Given the description of an element on the screen output the (x, y) to click on. 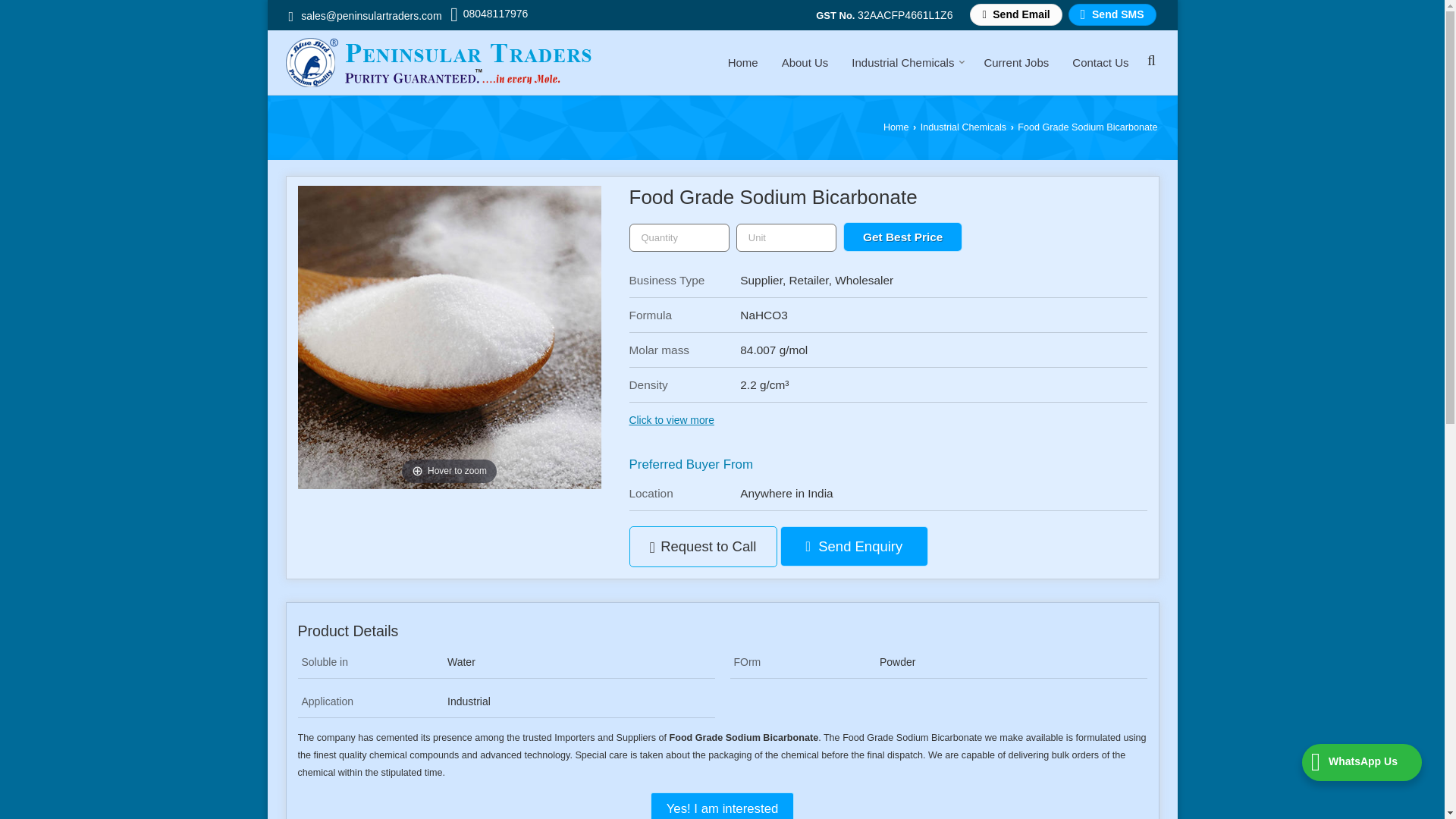
About Us (805, 61)
Request to Call (702, 546)
Peninsular Traders (438, 61)
Yes! I am interested (722, 805)
Click to view more (671, 419)
About Us (805, 61)
Home (743, 61)
Home (895, 127)
Home (743, 61)
